Given the description of an element on the screen output the (x, y) to click on. 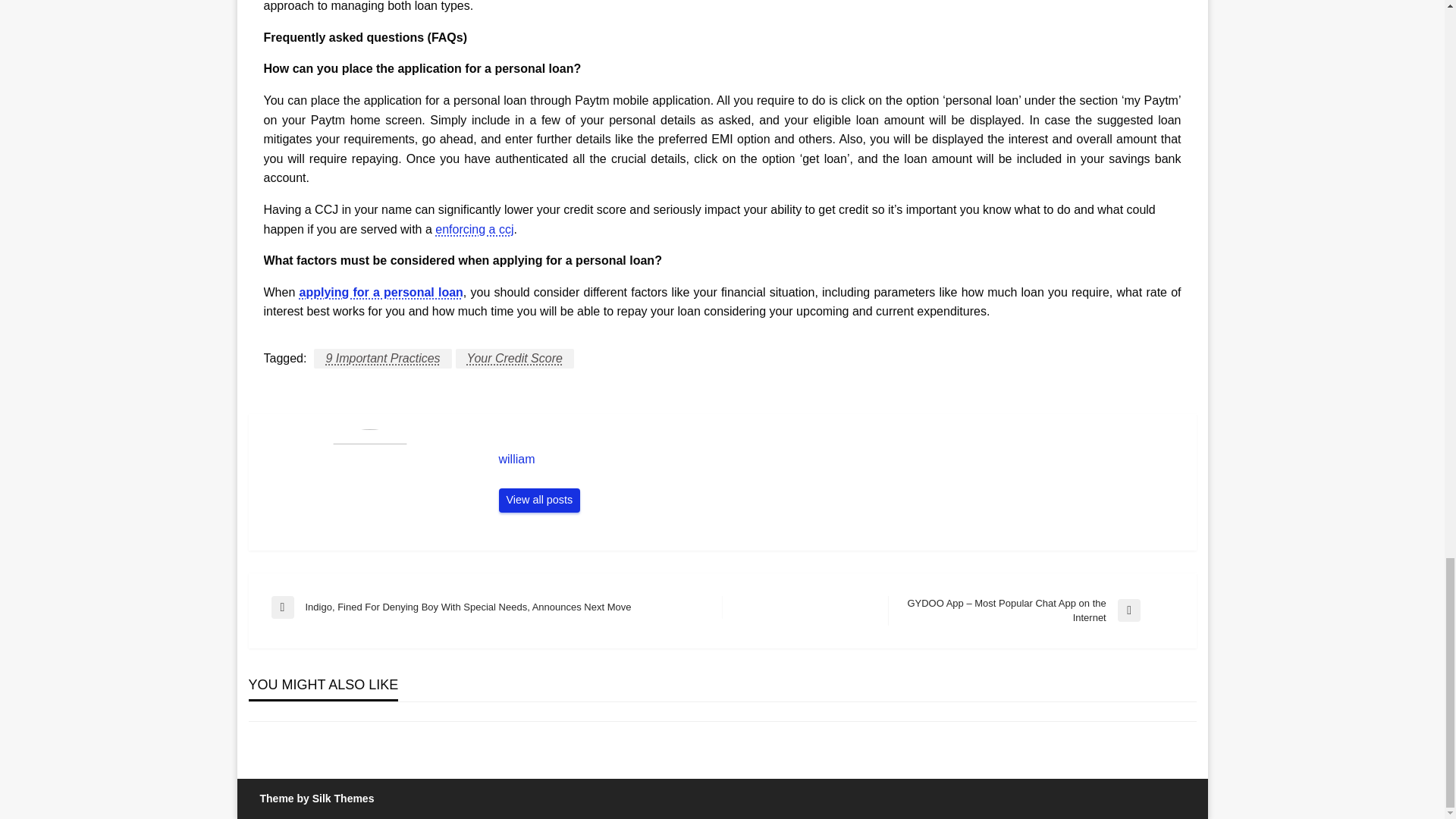
william (539, 500)
9 Important Practices (382, 358)
Theme by Silk Themes (316, 798)
Your Credit Score (514, 358)
enforcing a ccj (474, 228)
william (839, 459)
william (839, 459)
View all posts (539, 500)
applying for a personal loan (380, 291)
